Given the description of an element on the screen output the (x, y) to click on. 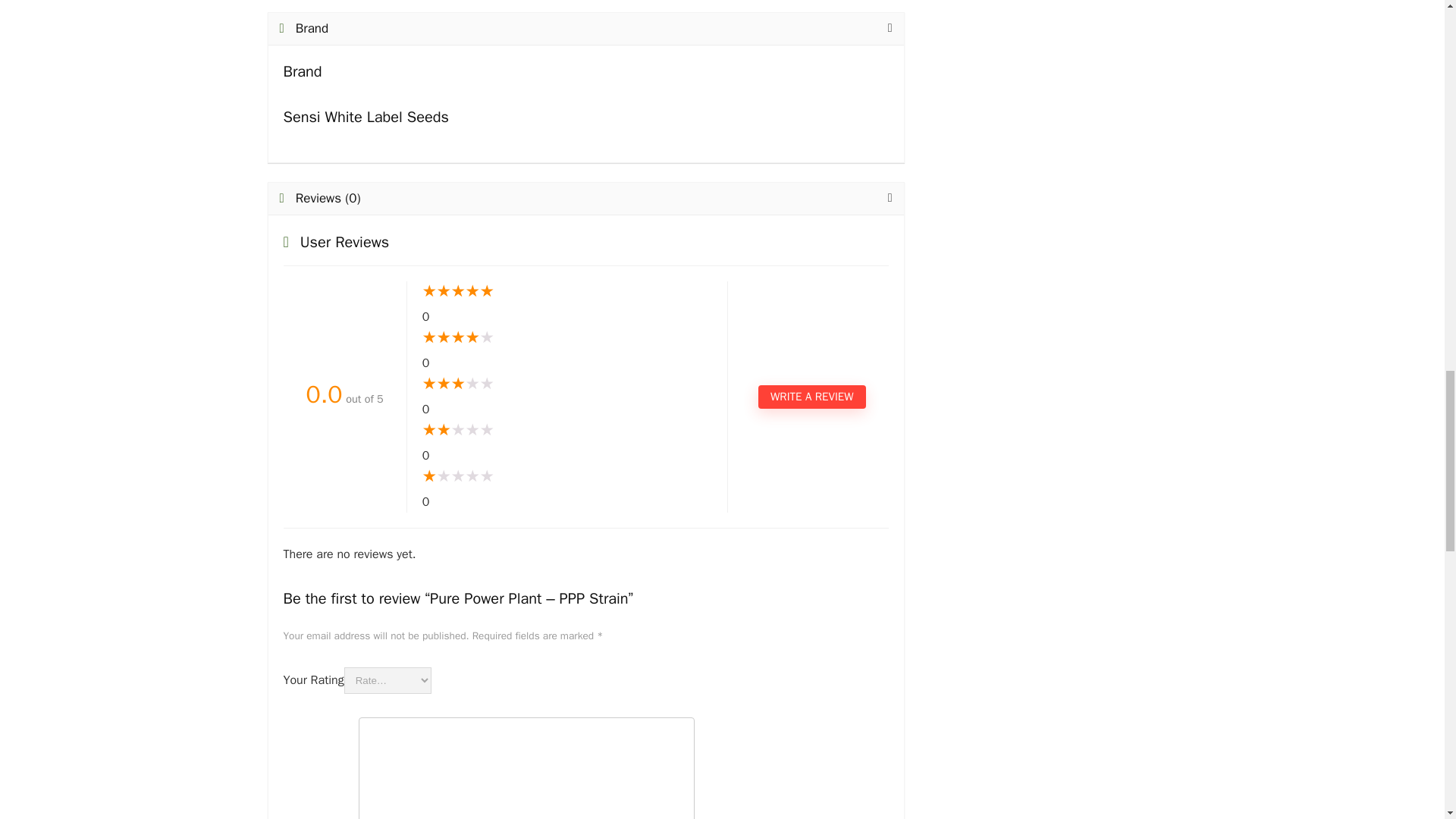
Rated 5 out of 5 (566, 291)
Rated 1 out of 5 (566, 476)
Rated 4 out of 5 (566, 337)
WRITE A REVIEW (811, 396)
Rated 2 out of 5 (566, 430)
Rated 3 out of 5 (566, 383)
